Given the description of an element on the screen output the (x, y) to click on. 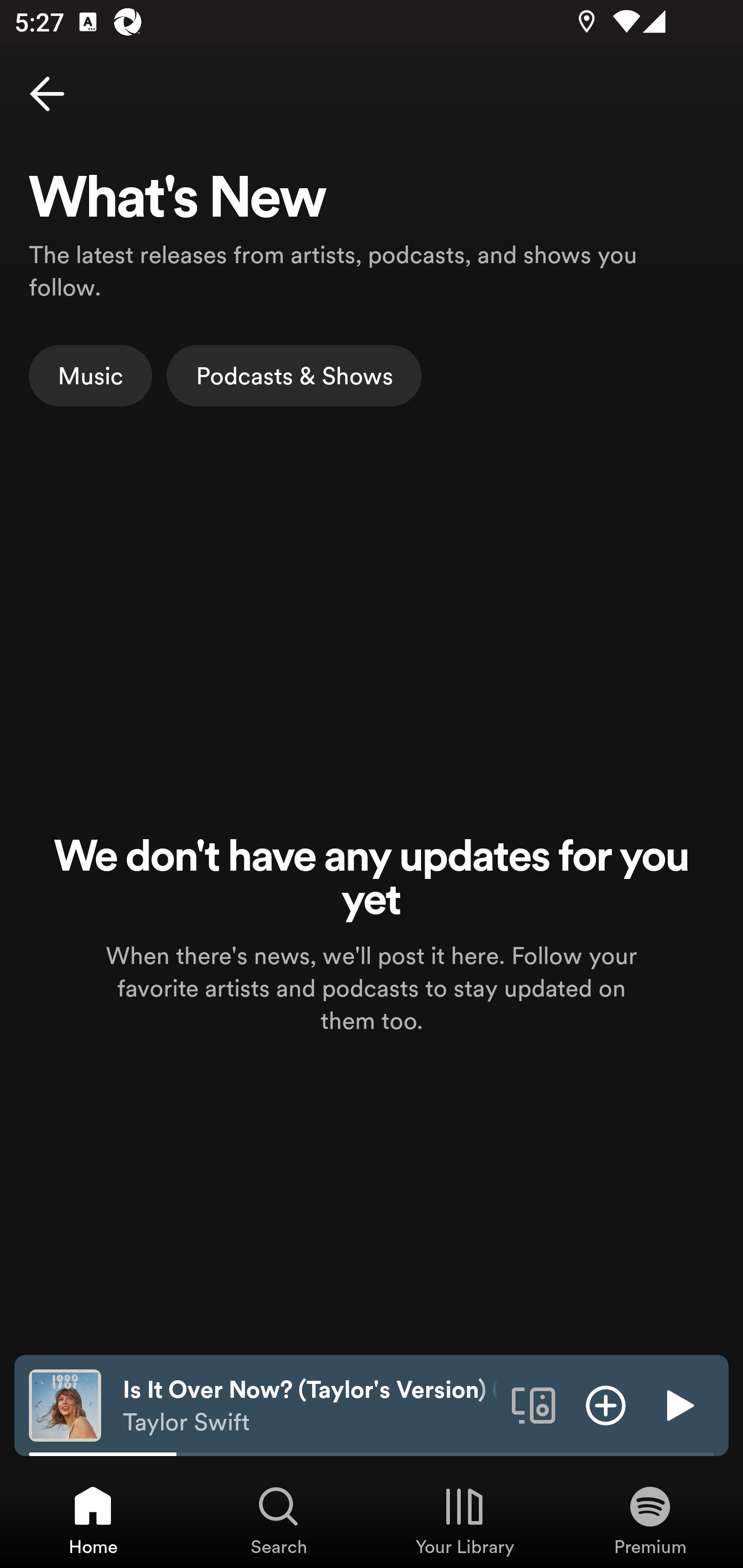
Back (46, 93)
Music; show only Music (90, 375)
Podcasts and Shows; show only Podcasts and Shows (293, 375)
The cover art of the currently playing track (64, 1404)
Connect to a device. Opens the devices menu (533, 1404)
Add item (605, 1404)
Play (677, 1404)
Home, Tab 1 of 4 Home Home (92, 1519)
Search, Tab 2 of 4 Search Search (278, 1519)
Your Library, Tab 3 of 4 Your Library Your Library (464, 1519)
Premium, Tab 4 of 4 Premium Premium (650, 1519)
